Given the description of an element on the screen output the (x, y) to click on. 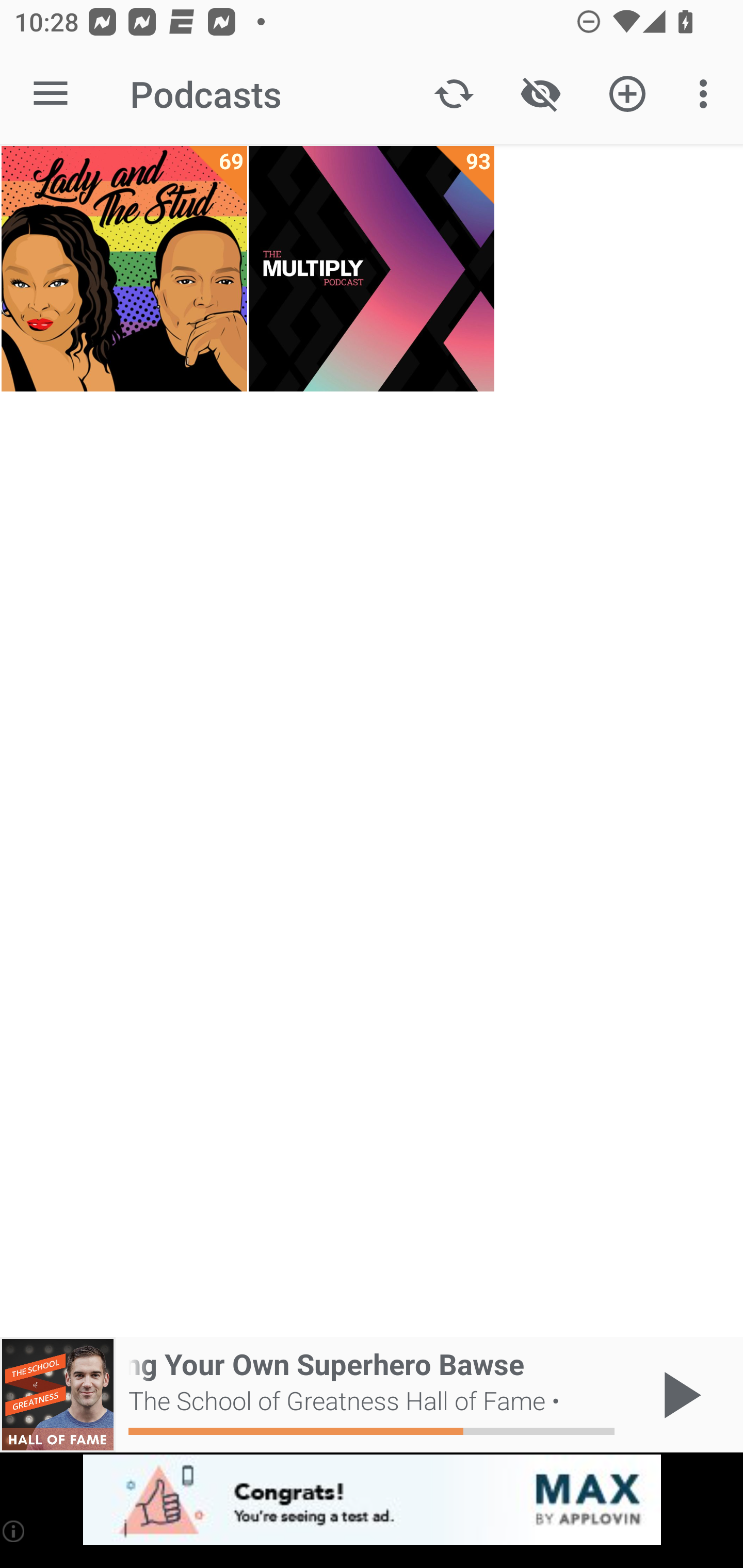
Open navigation sidebar (50, 93)
Update (453, 93)
Show / Hide played content (540, 93)
Add new Podcast (626, 93)
More options (706, 93)
Lady and The Stud 69 (124, 268)
The Multiply Podcast 93 (371, 268)
Play / Pause (677, 1394)
app-monetization (371, 1500)
(i) (14, 1531)
